Given the description of an element on the screen output the (x, y) to click on. 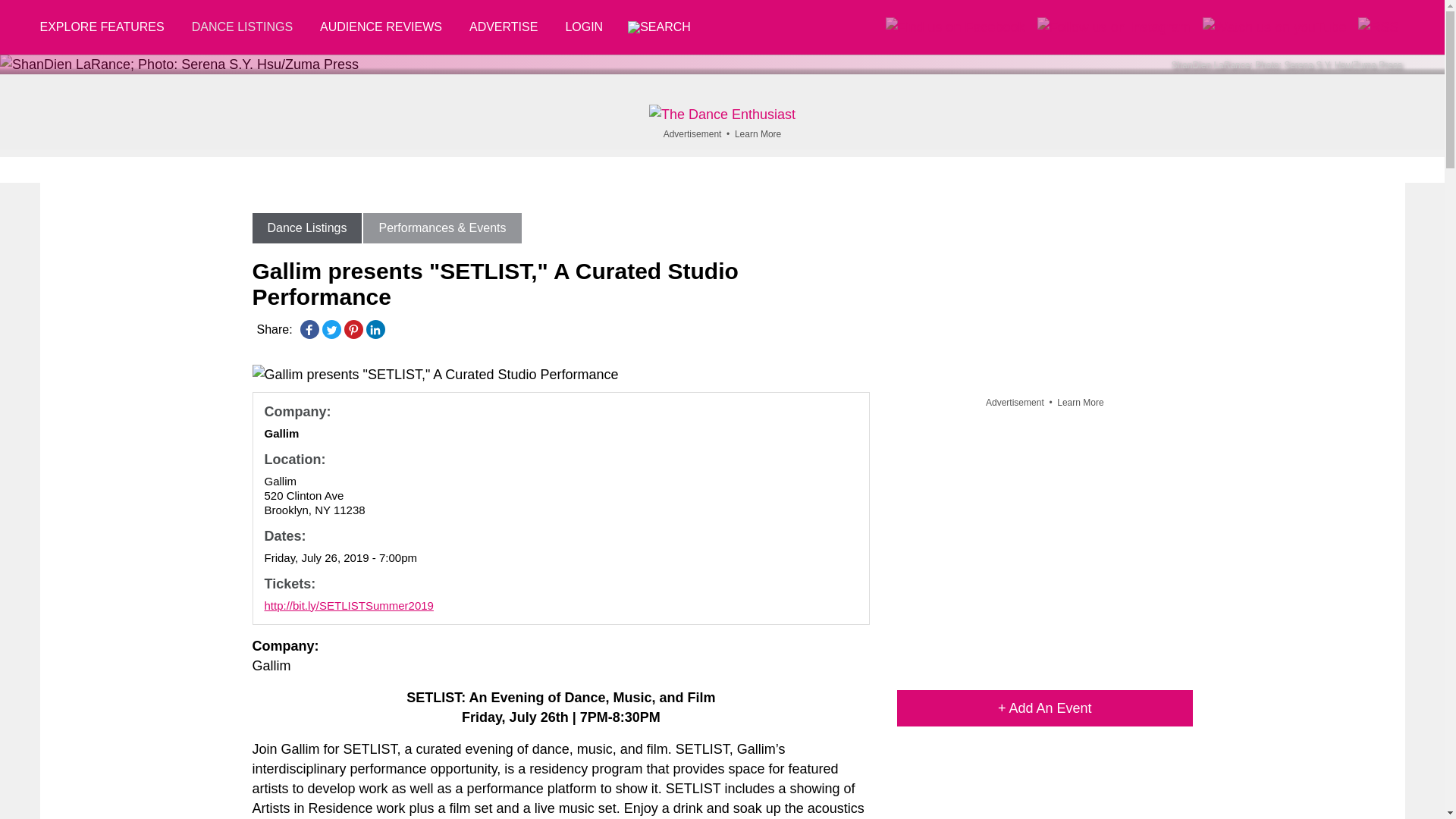
ADVERTISE (503, 27)
EXPLORE FEATURES (108, 27)
DANCE LISTINGS (241, 27)
Pinterest (353, 328)
LinkedIn (375, 328)
Facebook (309, 328)
AUDIENCE REVIEWS (380, 27)
LOGIN (583, 27)
Twitter (331, 328)
